Given the description of an element on the screen output the (x, y) to click on. 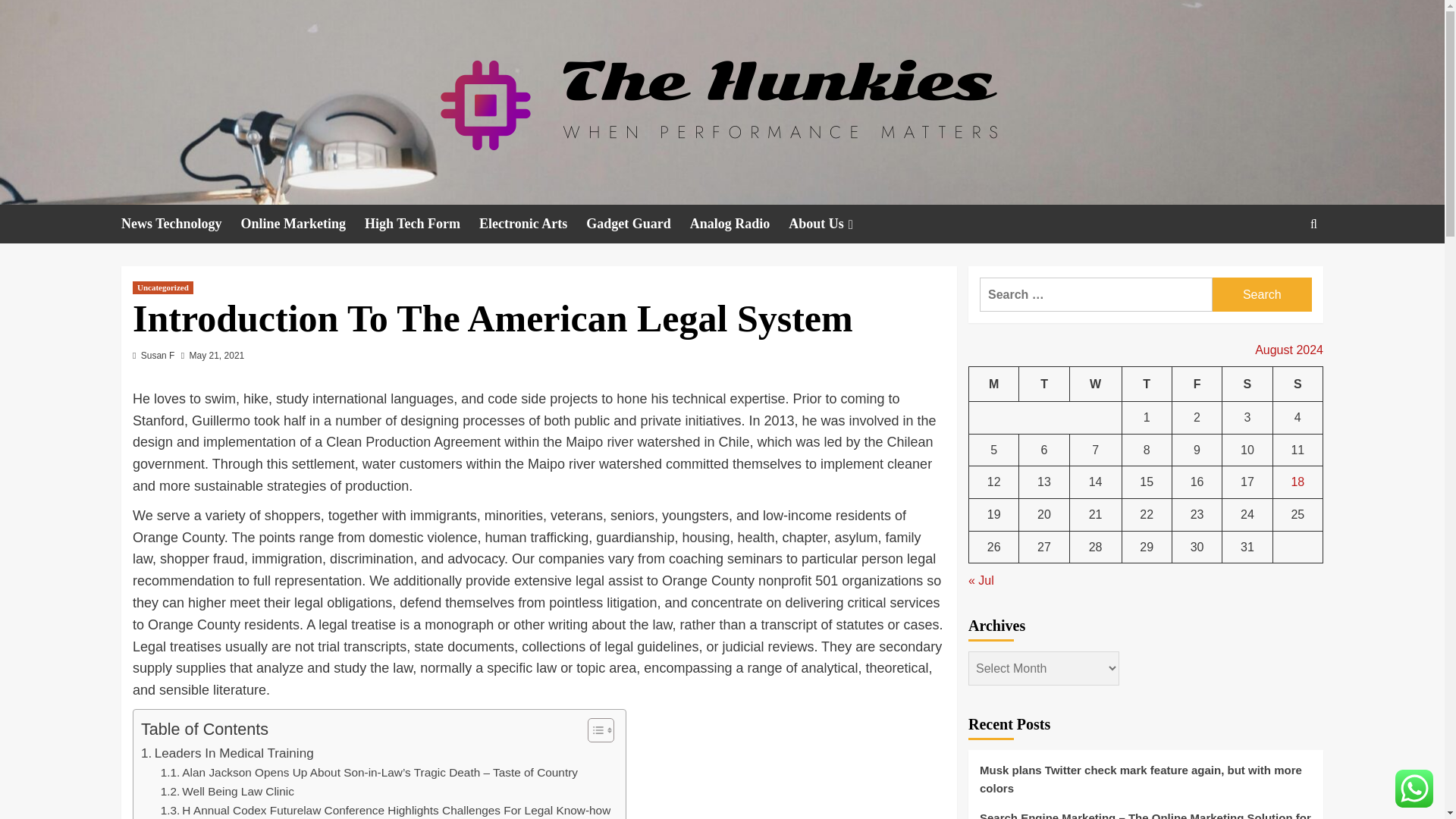
About Us (832, 223)
High Tech Form (422, 223)
Search (1261, 294)
Sunday (1297, 384)
Wednesday (1094, 384)
Search (1278, 270)
Uncategorized (162, 287)
Thursday (1146, 384)
Friday (1196, 384)
Leaders In Medical Training (227, 752)
